Given the description of an element on the screen output the (x, y) to click on. 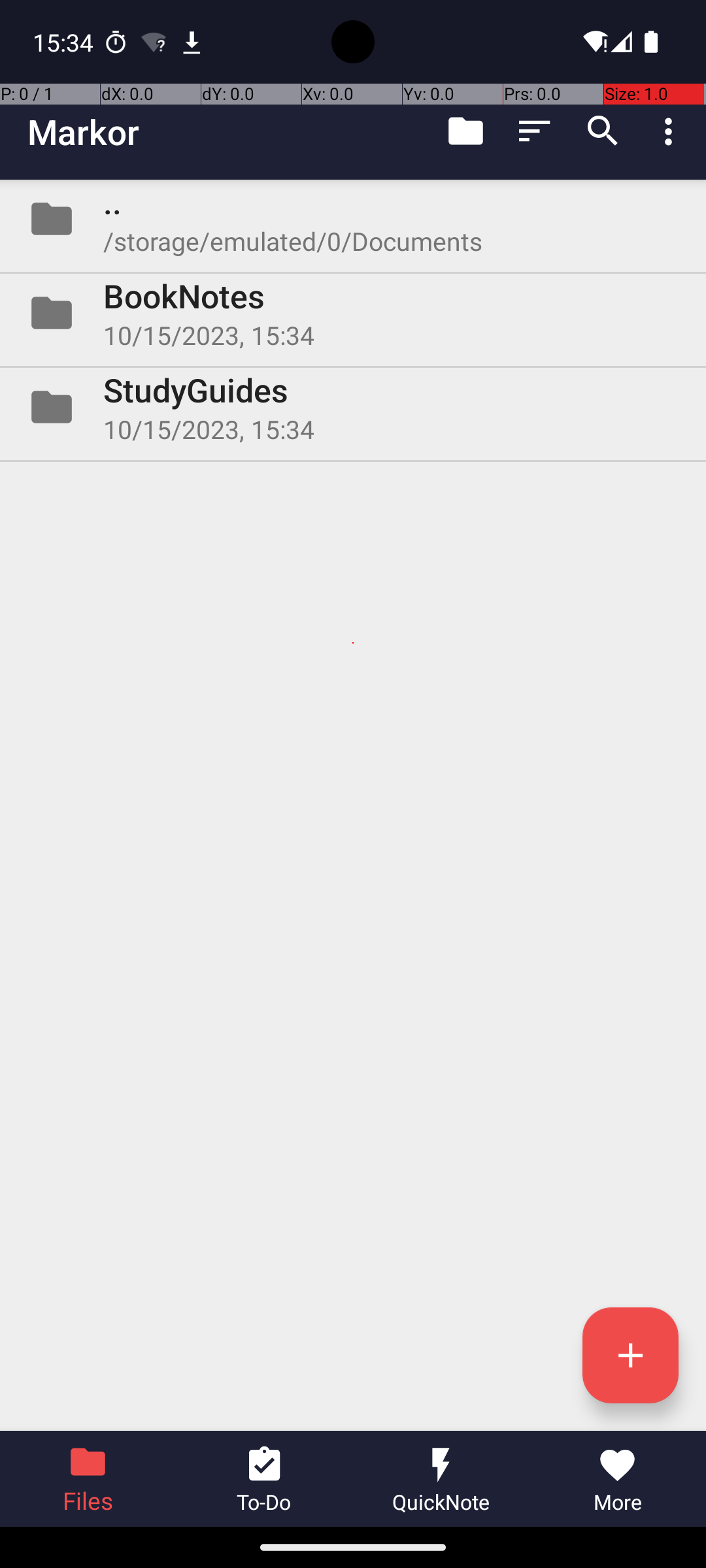
Folder BookNotes  Element type: android.widget.LinearLayout (353, 312)
Folder StudyGuides  Element type: android.widget.LinearLayout (353, 406)
